Given the description of an element on the screen output the (x, y) to click on. 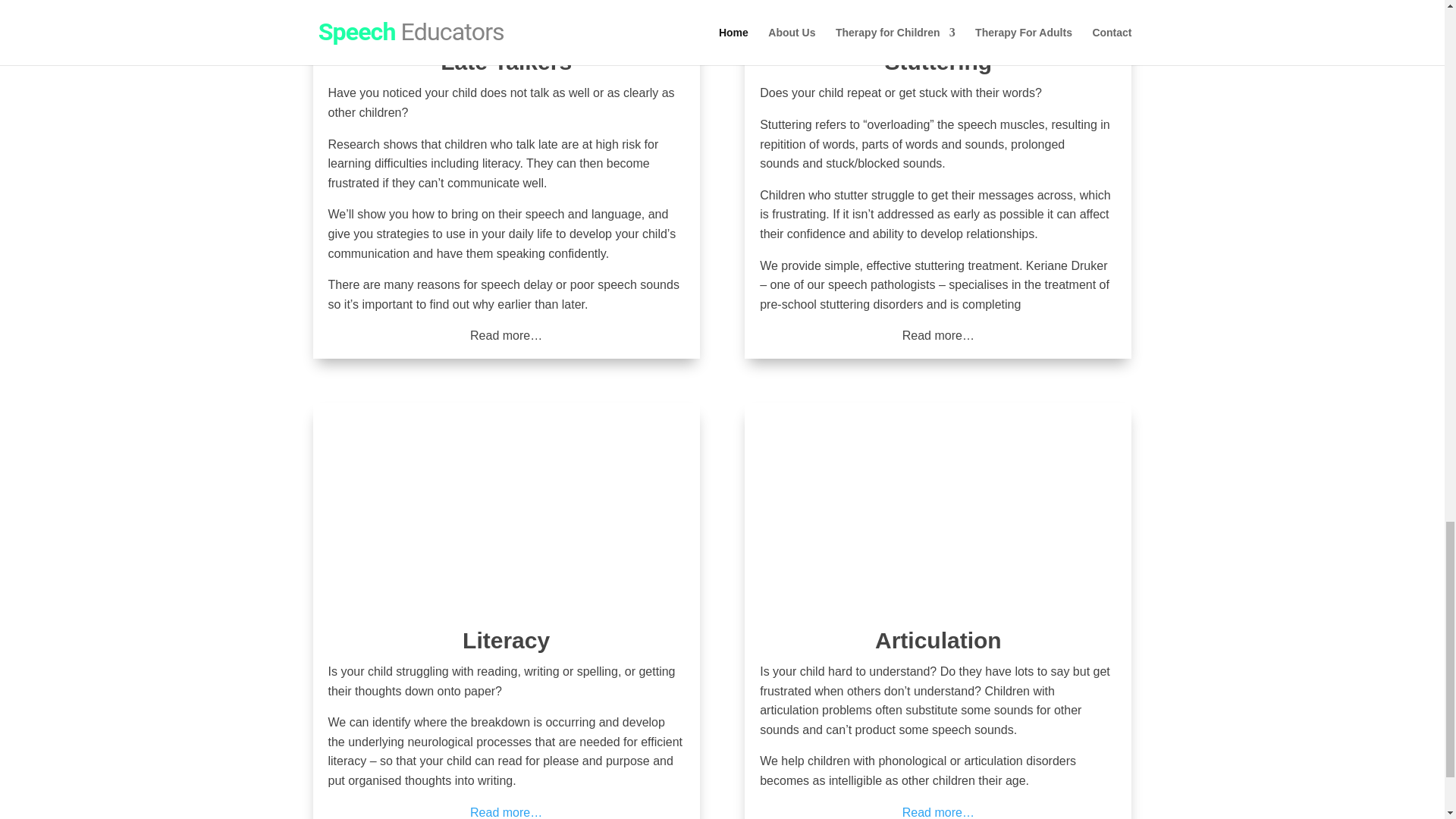
Speech Pathology for Literacy Problems (505, 812)
Literacy (506, 640)
Articulation (938, 640)
Late Talkers (506, 61)
Speech Therapy for Stuttering (938, 335)
Speech Pathology for Articulation Problems (938, 812)
Speech Therapy for Late Talkers (505, 335)
Stuttering (937, 61)
